Given the description of an element on the screen output the (x, y) to click on. 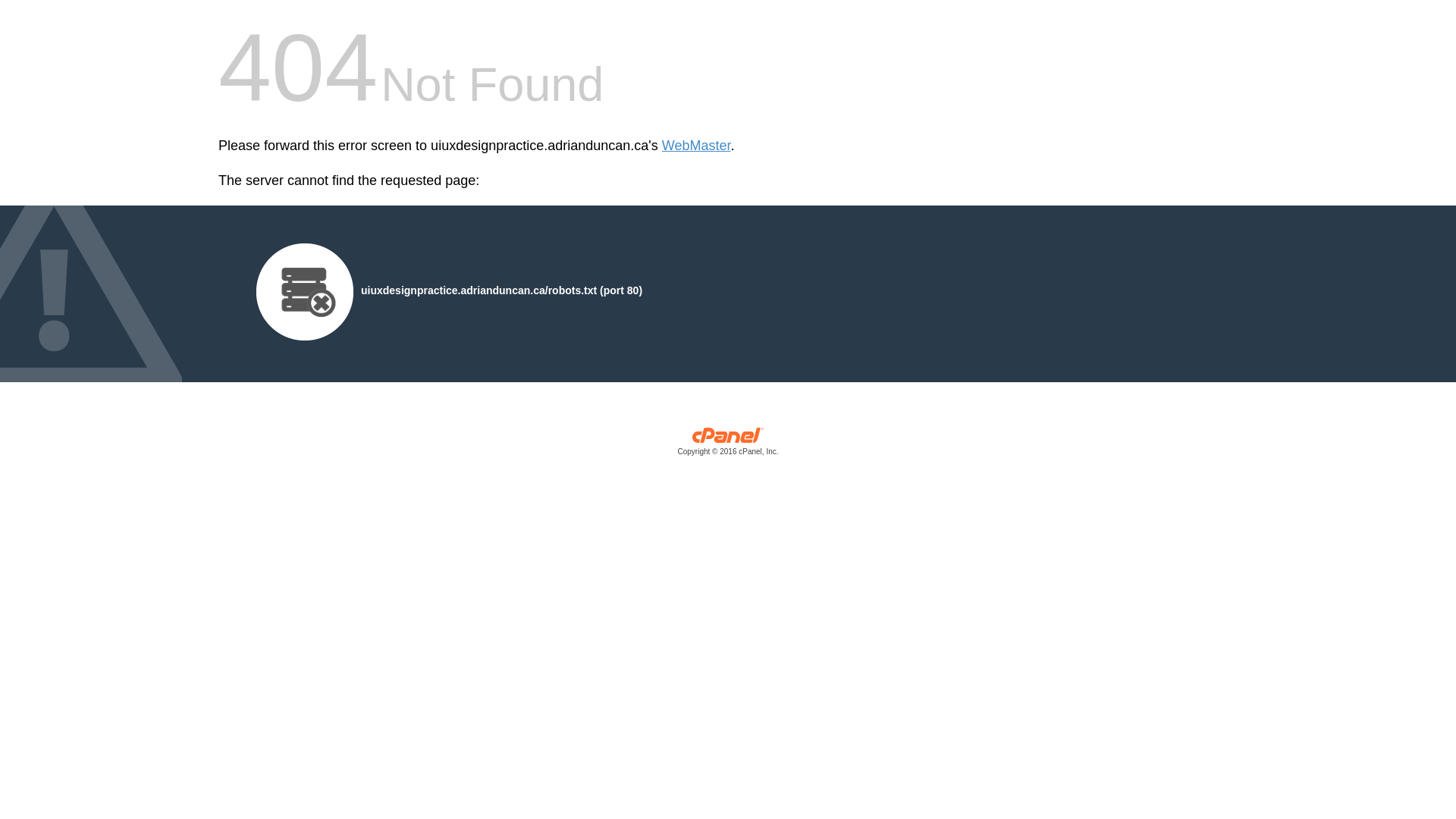
WebMaster Element type: text (696, 145)
